Given the description of an element on the screen output the (x, y) to click on. 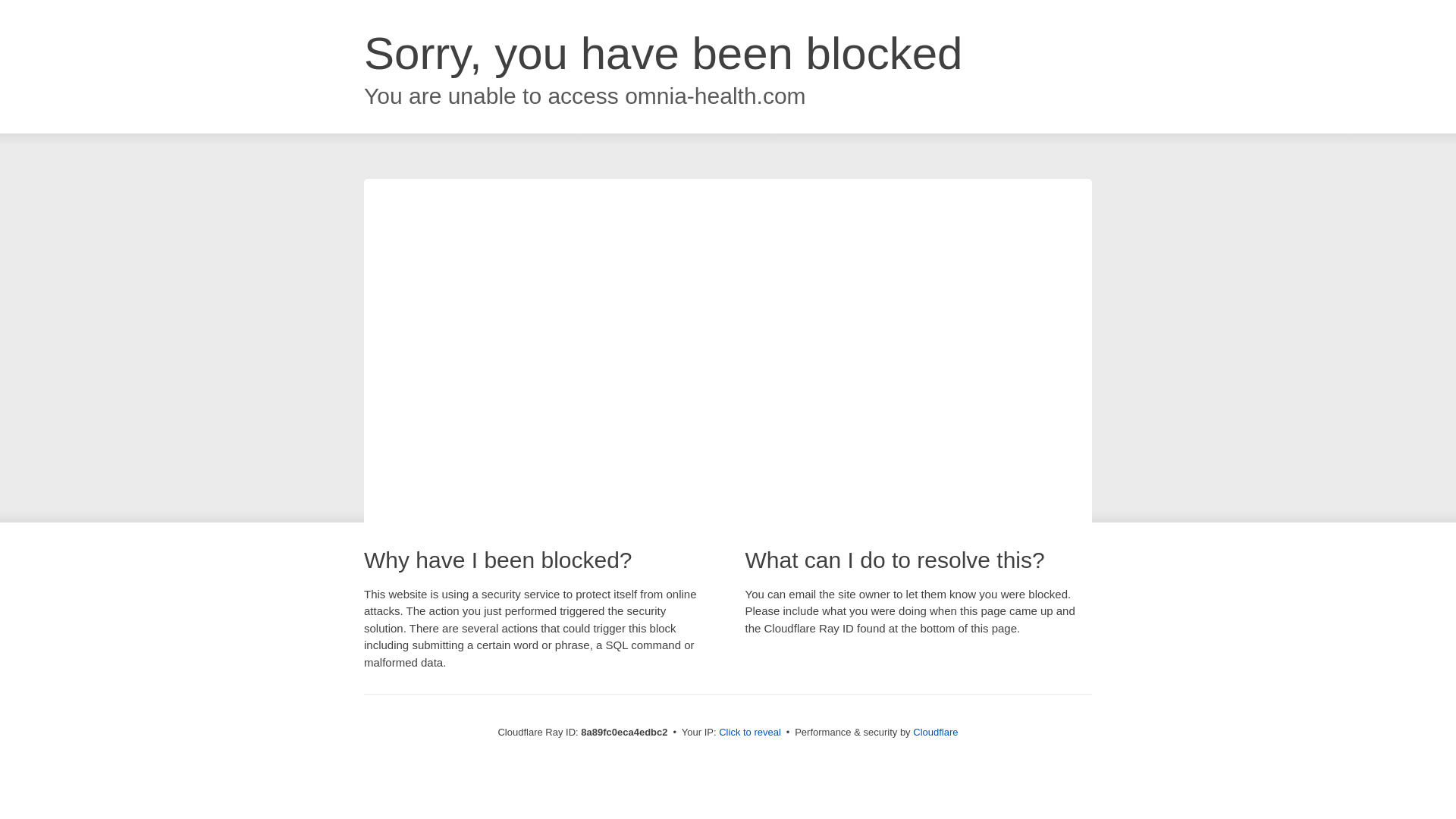
Click to reveal (749, 732)
Cloudflare (935, 731)
